Given the description of an element on the screen output the (x, y) to click on. 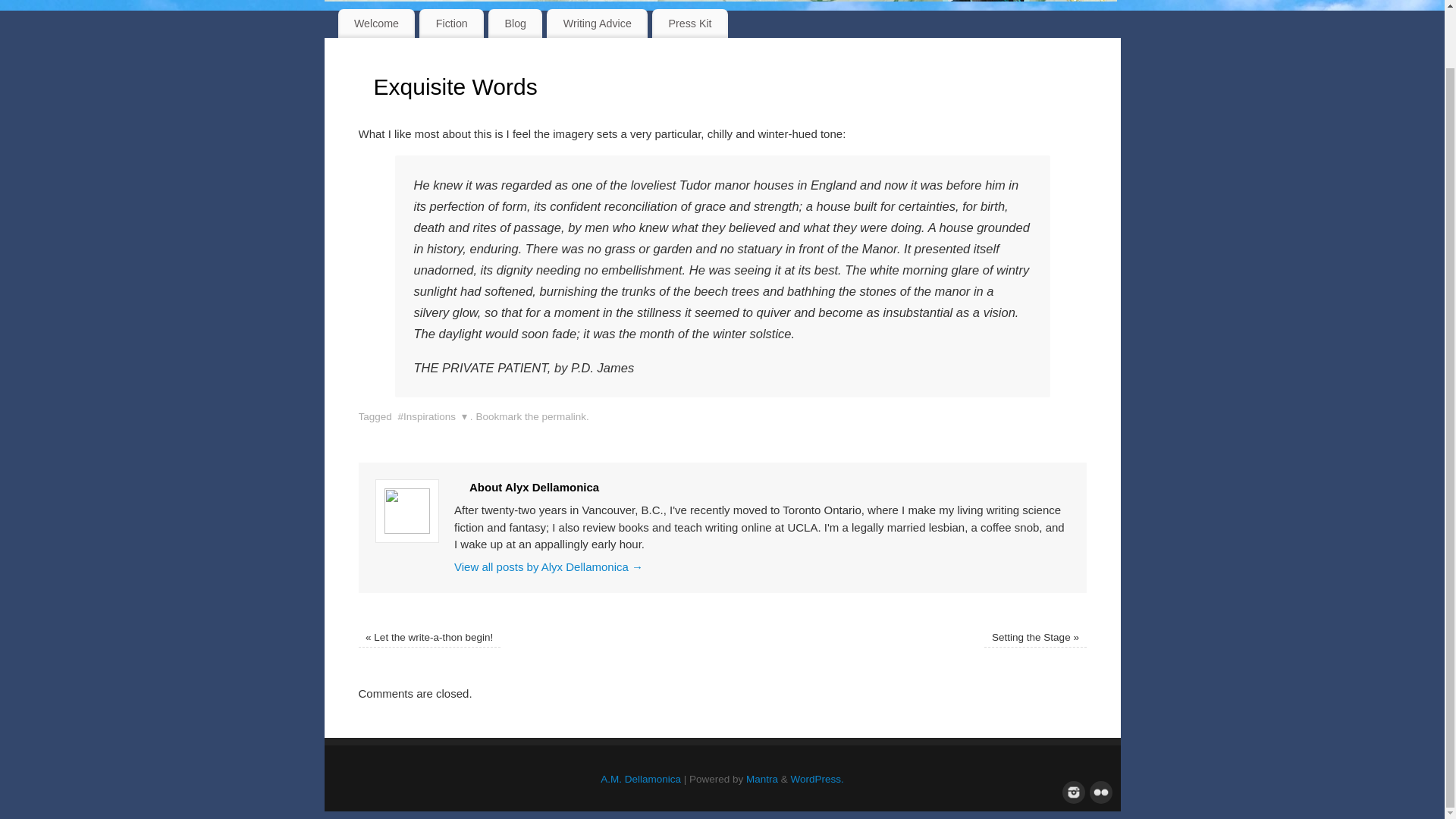
Welcome (375, 23)
Permalink to Exquisite Words (563, 416)
Mantra (761, 778)
permalink (563, 416)
A.M. Dellamonica (640, 778)
Flickr (1098, 790)
Fiction (451, 23)
Semantic Personal Publishing Platform (817, 778)
Press Kit (690, 23)
WordPress. (817, 778)
